Given the description of an element on the screen output the (x, y) to click on. 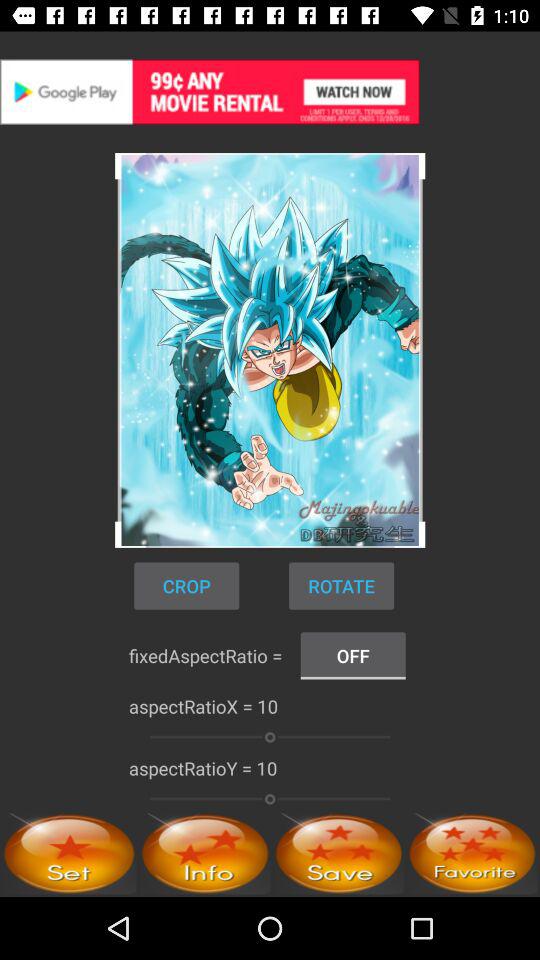
set (69, 853)
